Given the description of an element on the screen output the (x, y) to click on. 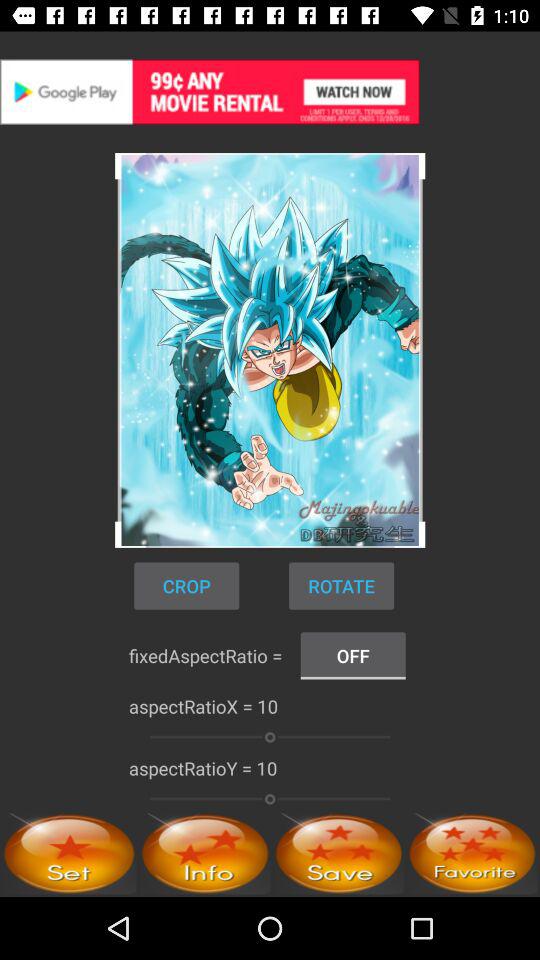
set (69, 853)
